Given the description of an element on the screen output the (x, y) to click on. 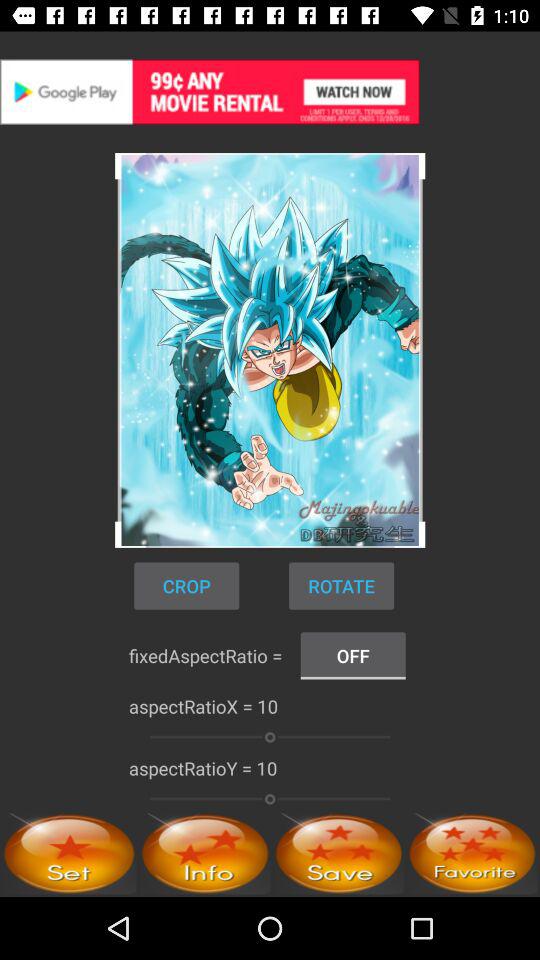
set (69, 853)
